Given the description of an element on the screen output the (x, y) to click on. 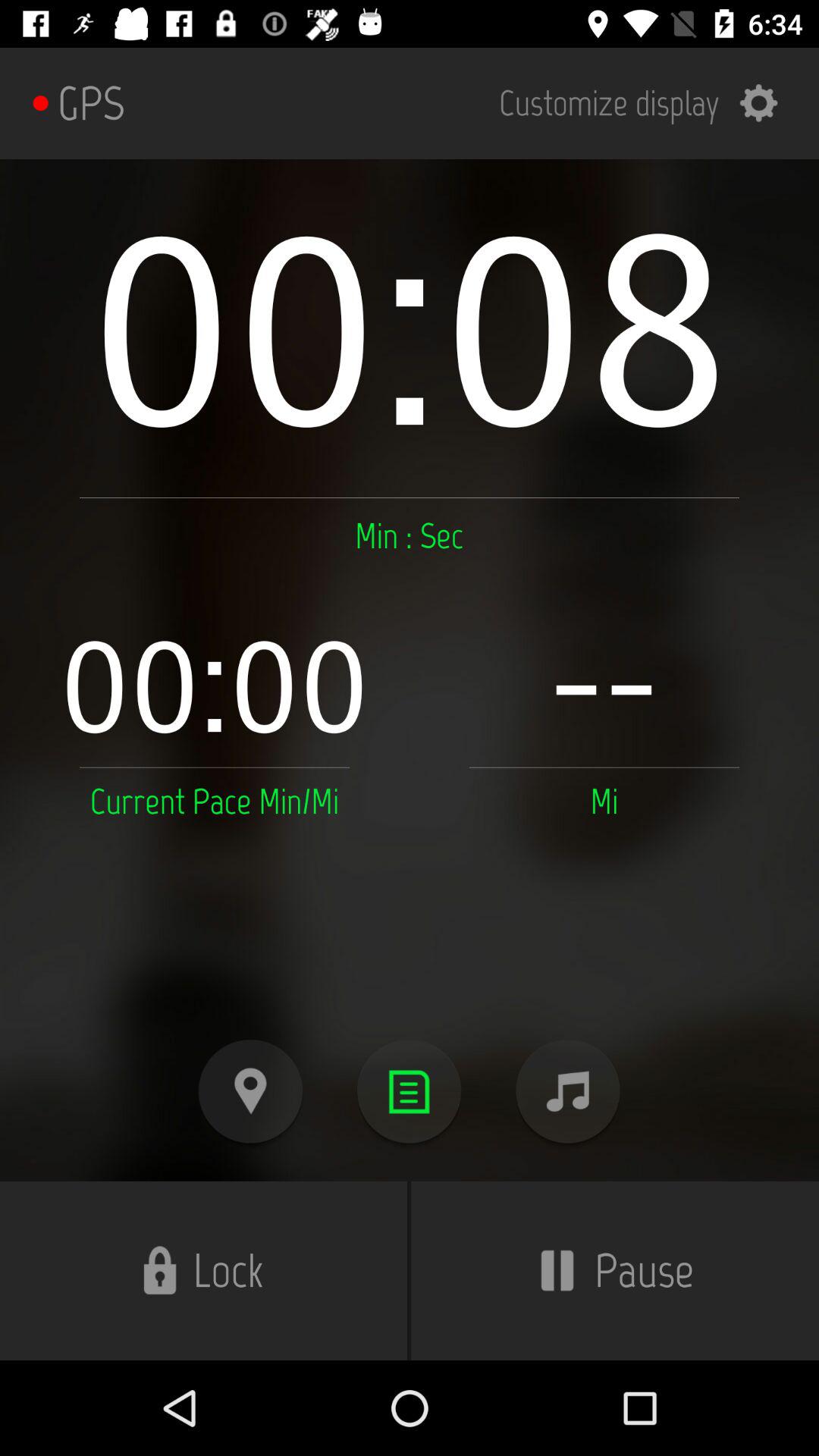
launch icon above 00:08 icon (648, 103)
